Given the description of an element on the screen output the (x, y) to click on. 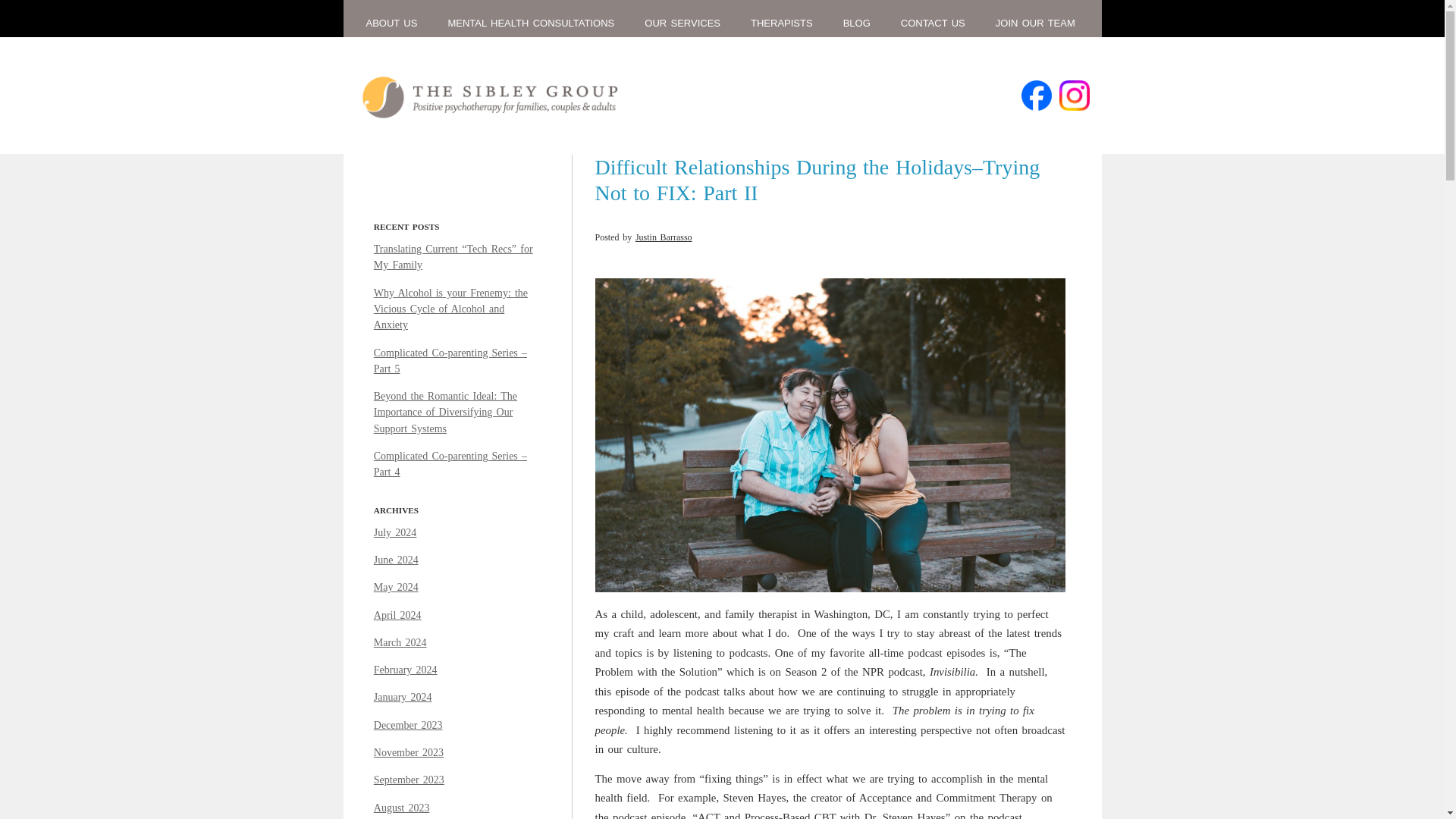
CONTACT US (932, 23)
BLOG (856, 23)
View all posts by Justin Barrasso (663, 236)
ABOUT US (391, 23)
THERAPISTS (781, 23)
OUR SERVICES (681, 23)
MENTAL HEALTH CONSULTATIONS (530, 23)
